Given the description of an element on the screen output the (x, y) to click on. 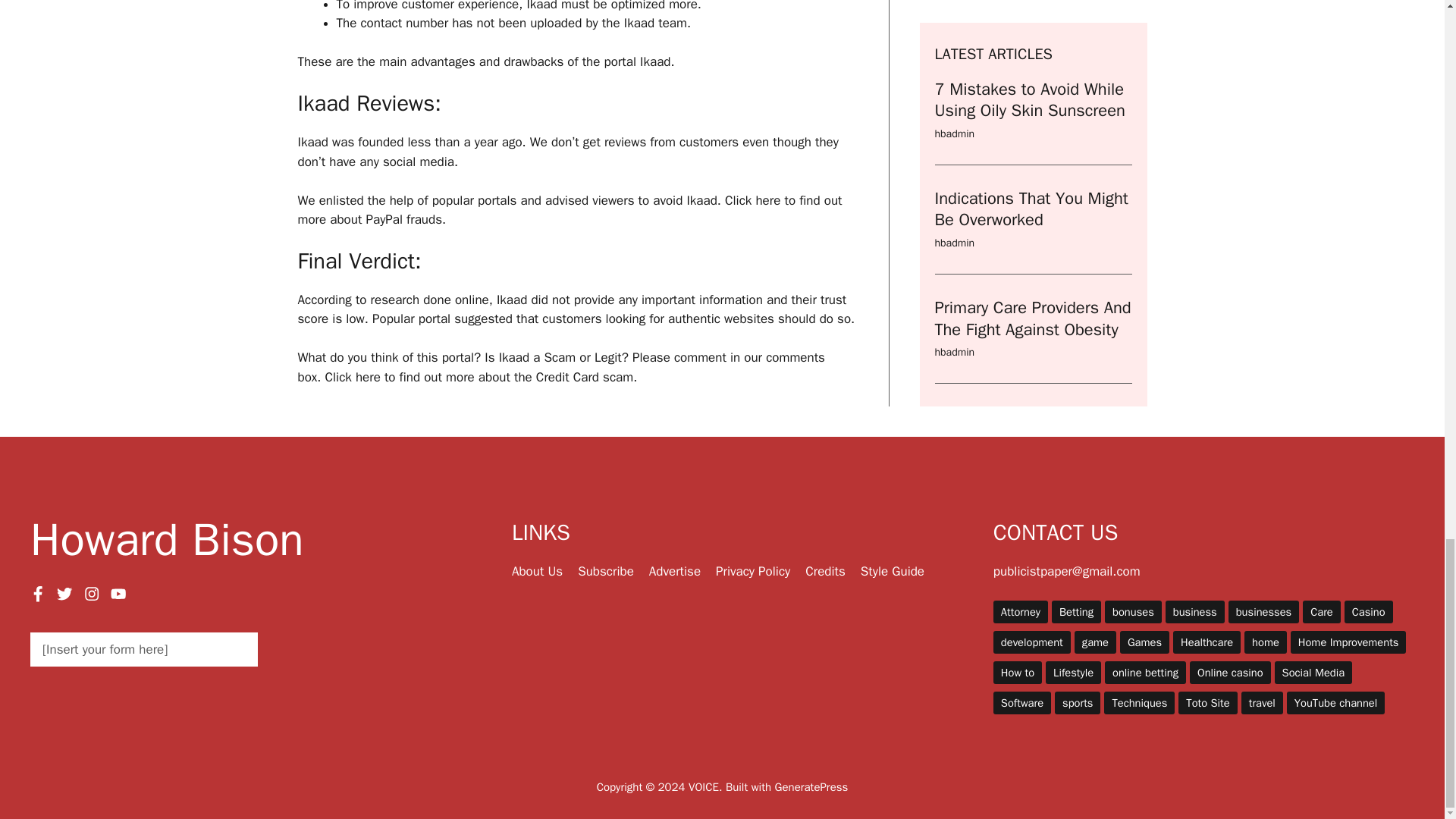
Credits (825, 571)
Advertise (674, 571)
Healthcare (1206, 641)
Betting (1075, 611)
development (1031, 641)
bonuses (1133, 611)
game (1095, 641)
About Us (537, 571)
Care (1321, 611)
Subscribe (605, 571)
